Given the description of an element on the screen output the (x, y) to click on. 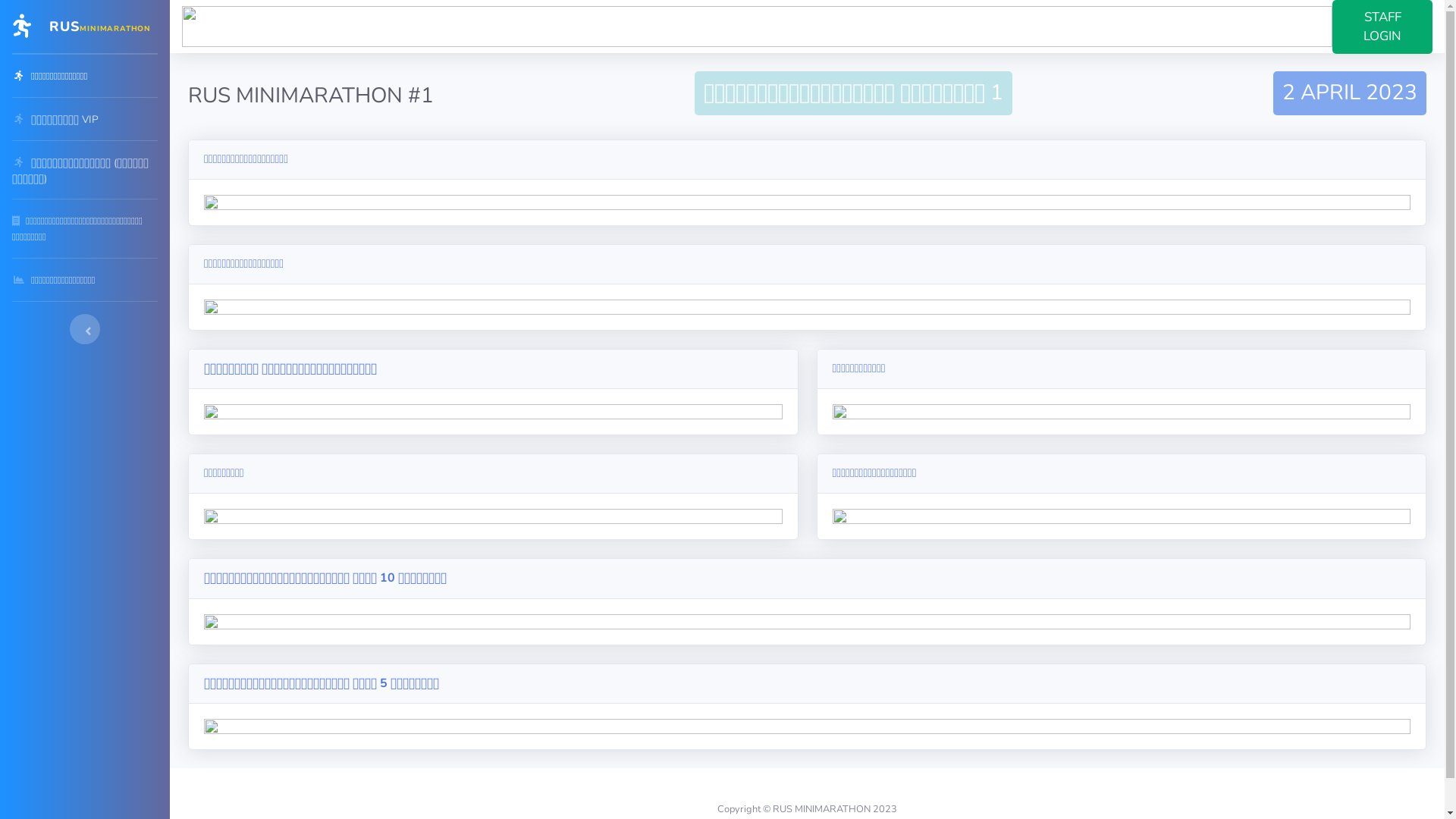
RUSMINIMARATHON Element type: text (84, 26)
STAFF LOGIN Element type: text (1382, 26)
